Given the description of an element on the screen output the (x, y) to click on. 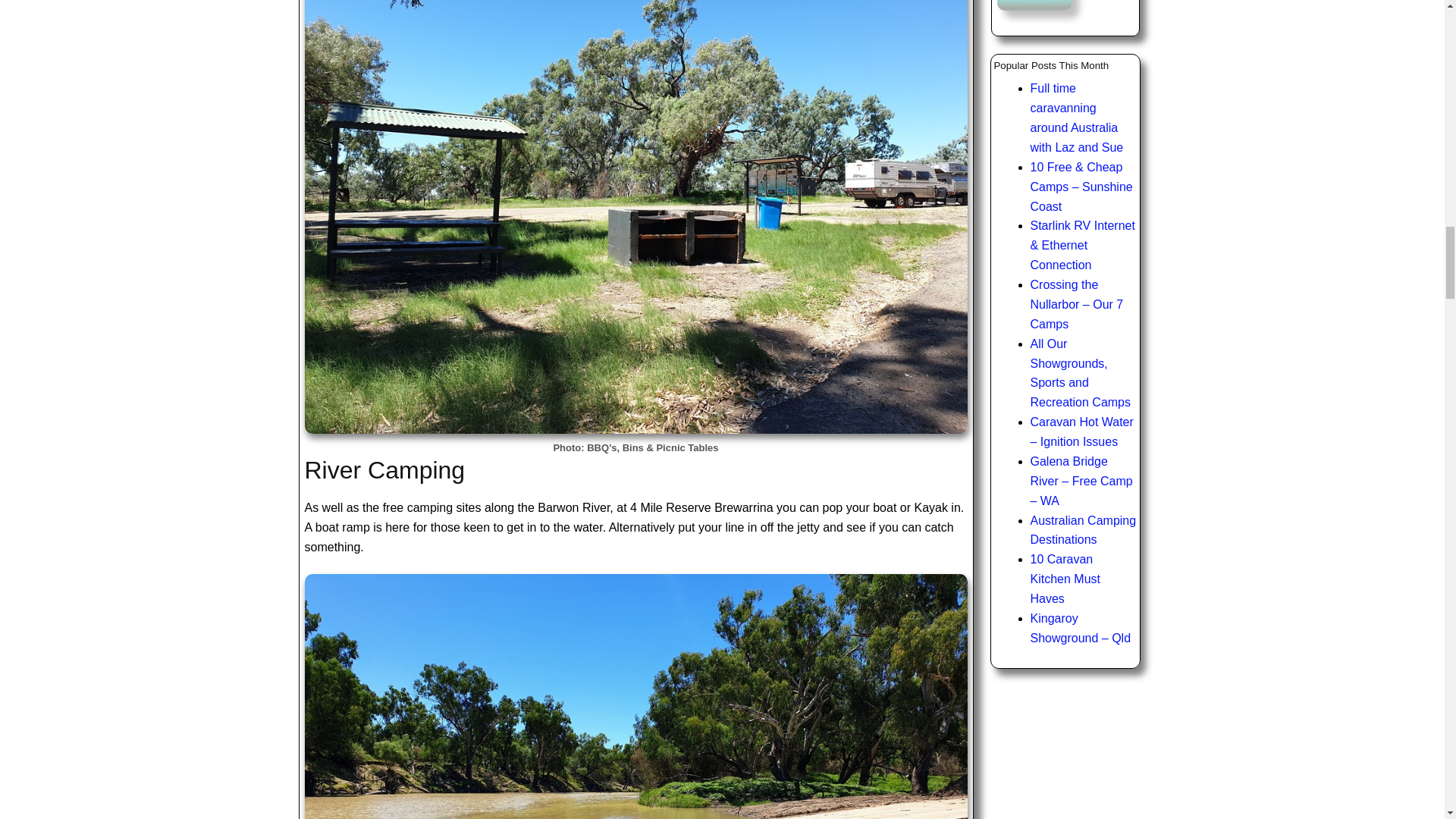
Submit (1033, 5)
